Given the description of an element on the screen output the (x, y) to click on. 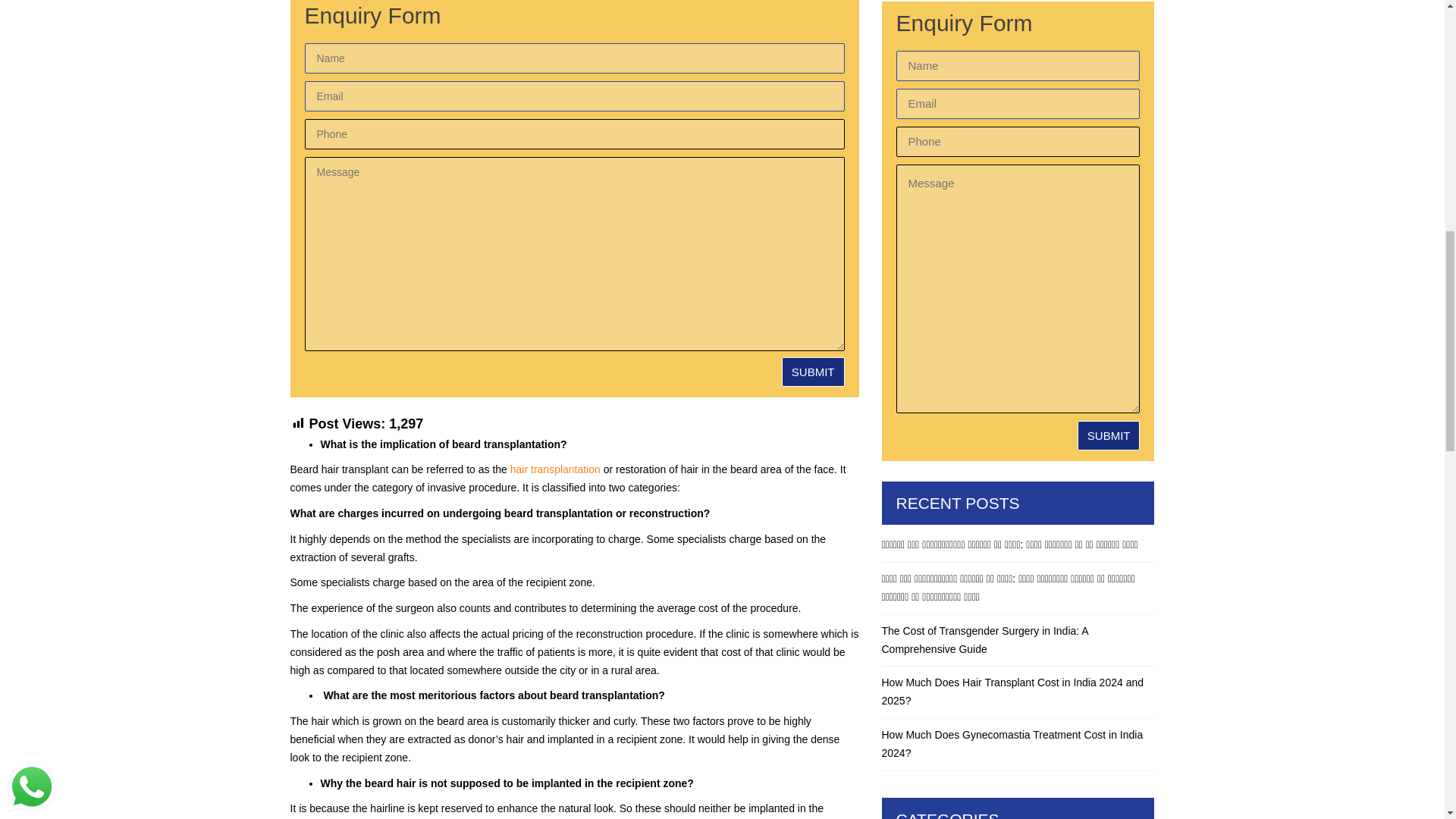
SUBMIT (1108, 435)
SUBMIT (812, 371)
